Given the description of an element on the screen output the (x, y) to click on. 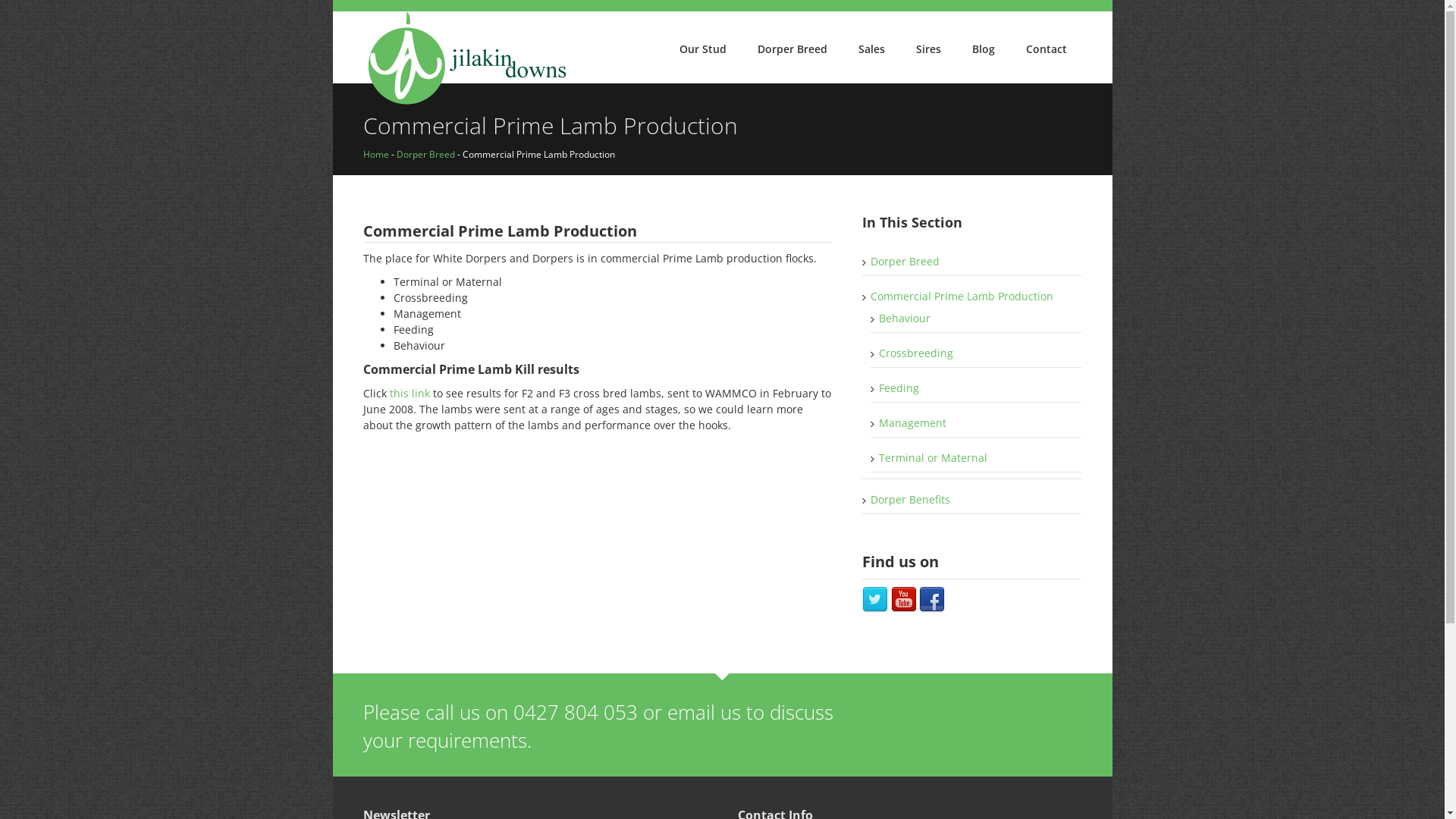
this link Element type: text (409, 392)
Sires Element type: text (928, 48)
Feeding Element type: text (898, 387)
Blog Element type: text (983, 48)
Terminal or Maternal Element type: text (932, 457)
Logo 2 Element type: hover (466, 58)
Dorper Breed Element type: text (424, 153)
Behaviour Element type: text (904, 317)
Our Stud Element type: text (702, 48)
Sales Element type: text (871, 48)
Crossbreeding Element type: text (915, 352)
Dorper Breed Element type: text (792, 48)
Dorper Breed Element type: text (904, 261)
Home Element type: text (375, 153)
Dorper Benefits Element type: text (910, 499)
Commercial Prime Lamb Production Element type: text (961, 295)
Management Element type: text (912, 422)
Contact Element type: text (1046, 48)
